Given the description of an element on the screen output the (x, y) to click on. 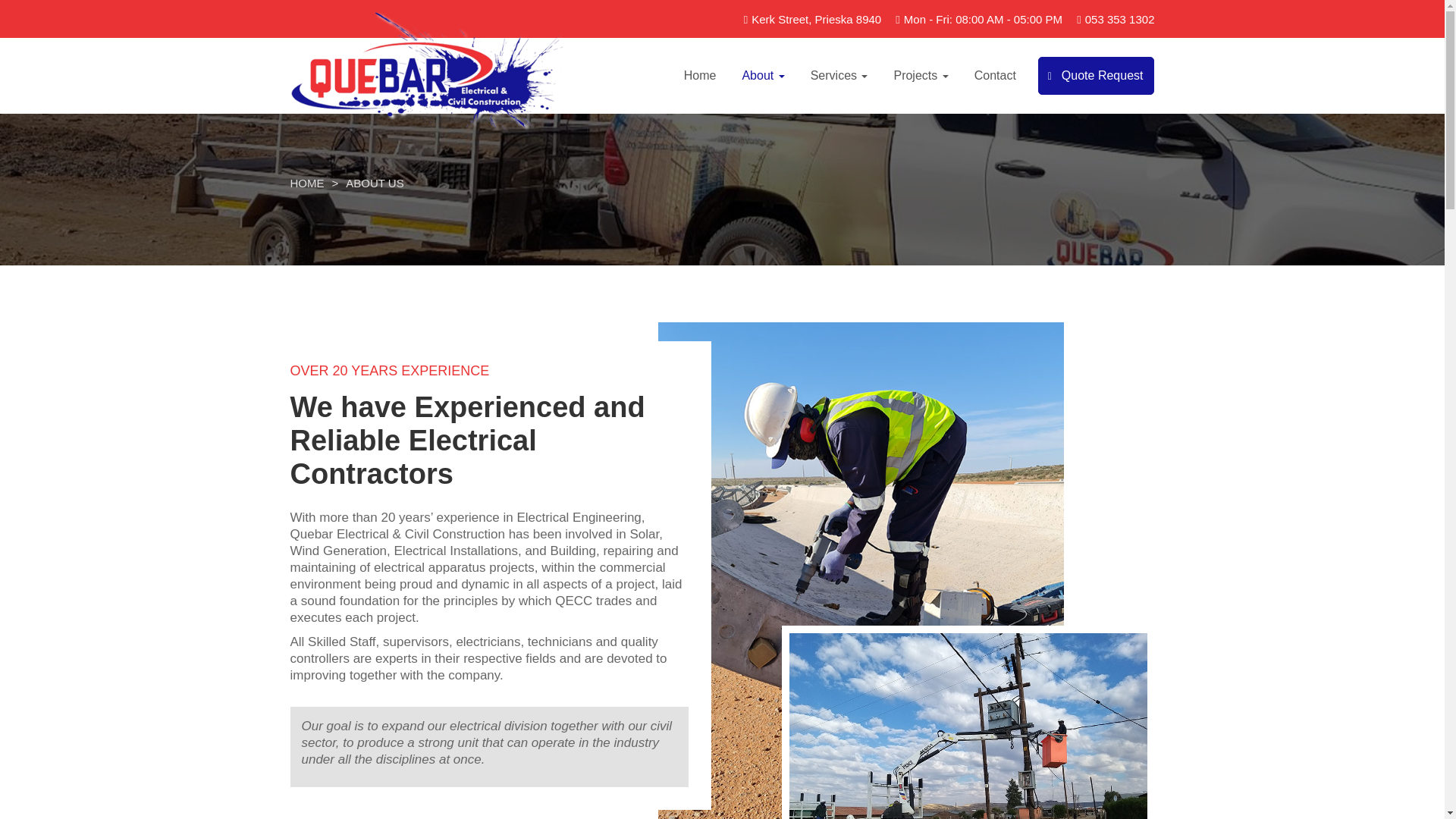
Home (306, 182)
Home (699, 75)
HOME (306, 182)
Quote Request (1096, 75)
Contact (995, 75)
Projects (920, 75)
Services (839, 75)
Kerk Street, Prieska 8940 (815, 19)
About (762, 75)
053 353 1302 (1119, 19)
